Given the description of an element on the screen output the (x, y) to click on. 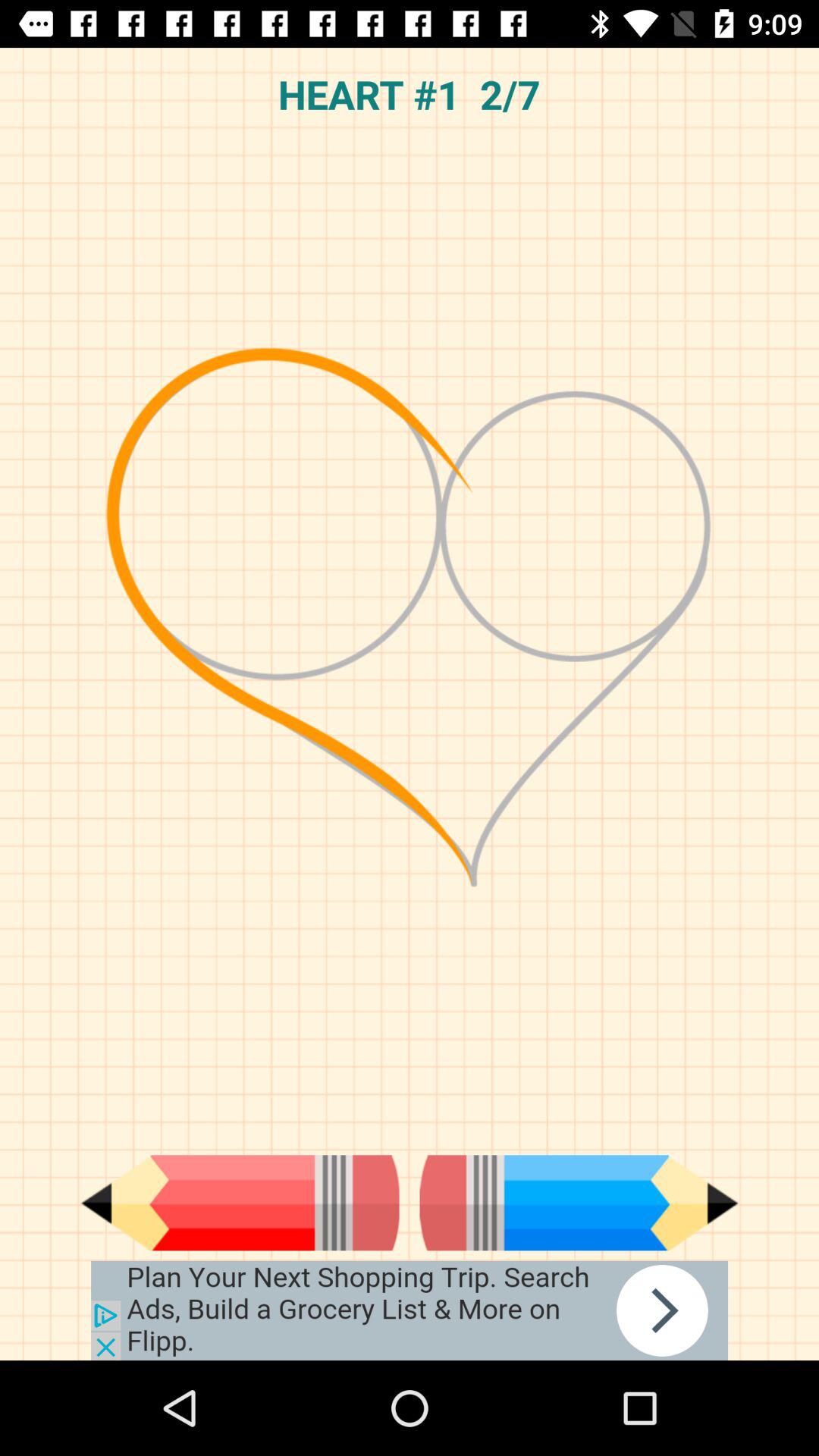
click advertisement (409, 1310)
